Given the description of an element on the screen output the (x, y) to click on. 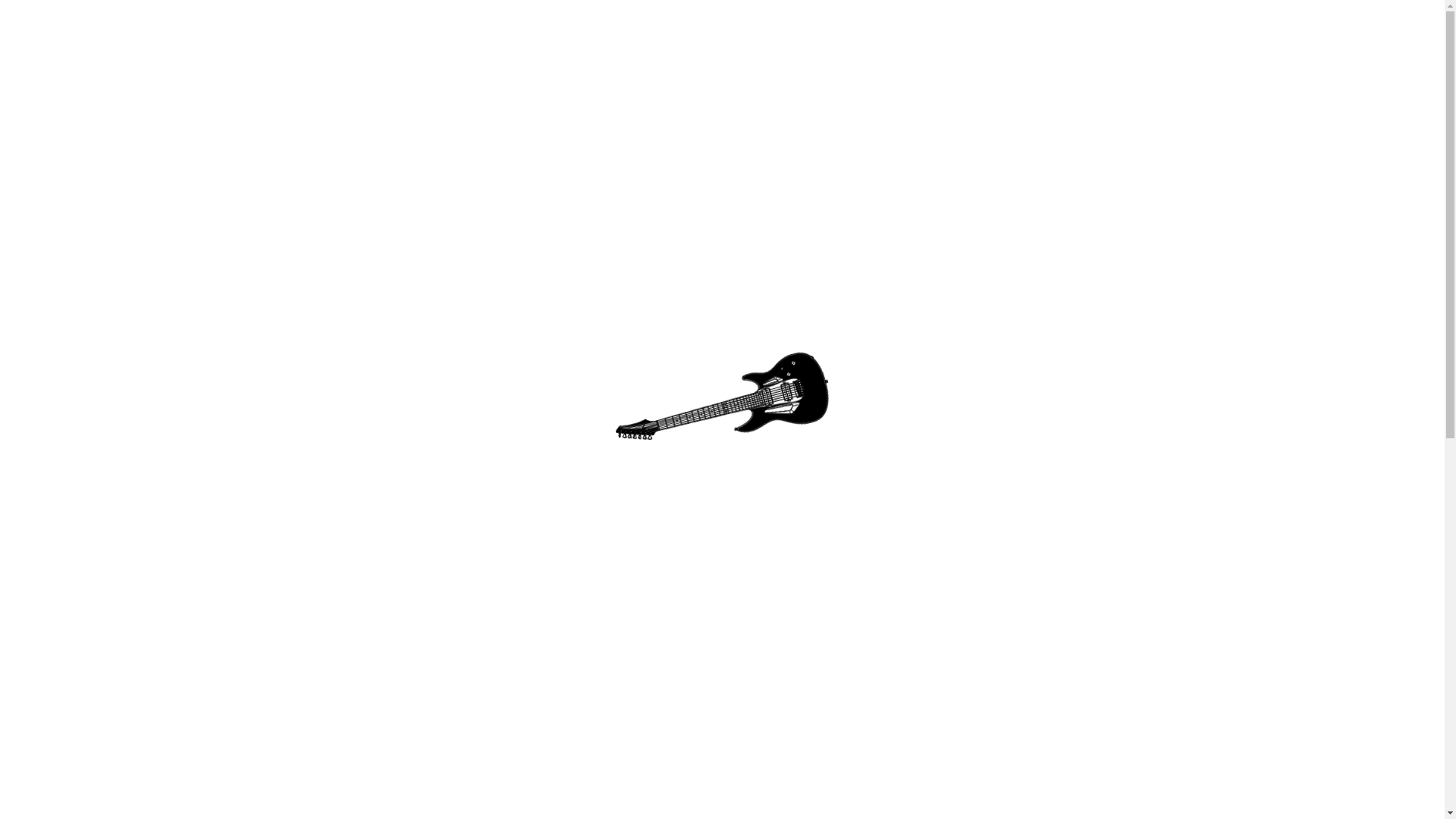
REPAIRS Element type: text (711, 114)
CONTACT Element type: text (858, 114)
GUITARS Element type: text (783, 114)
COURSES Element type: text (639, 114)
HOME Element type: text (574, 114)
